Given the description of an element on the screen output the (x, y) to click on. 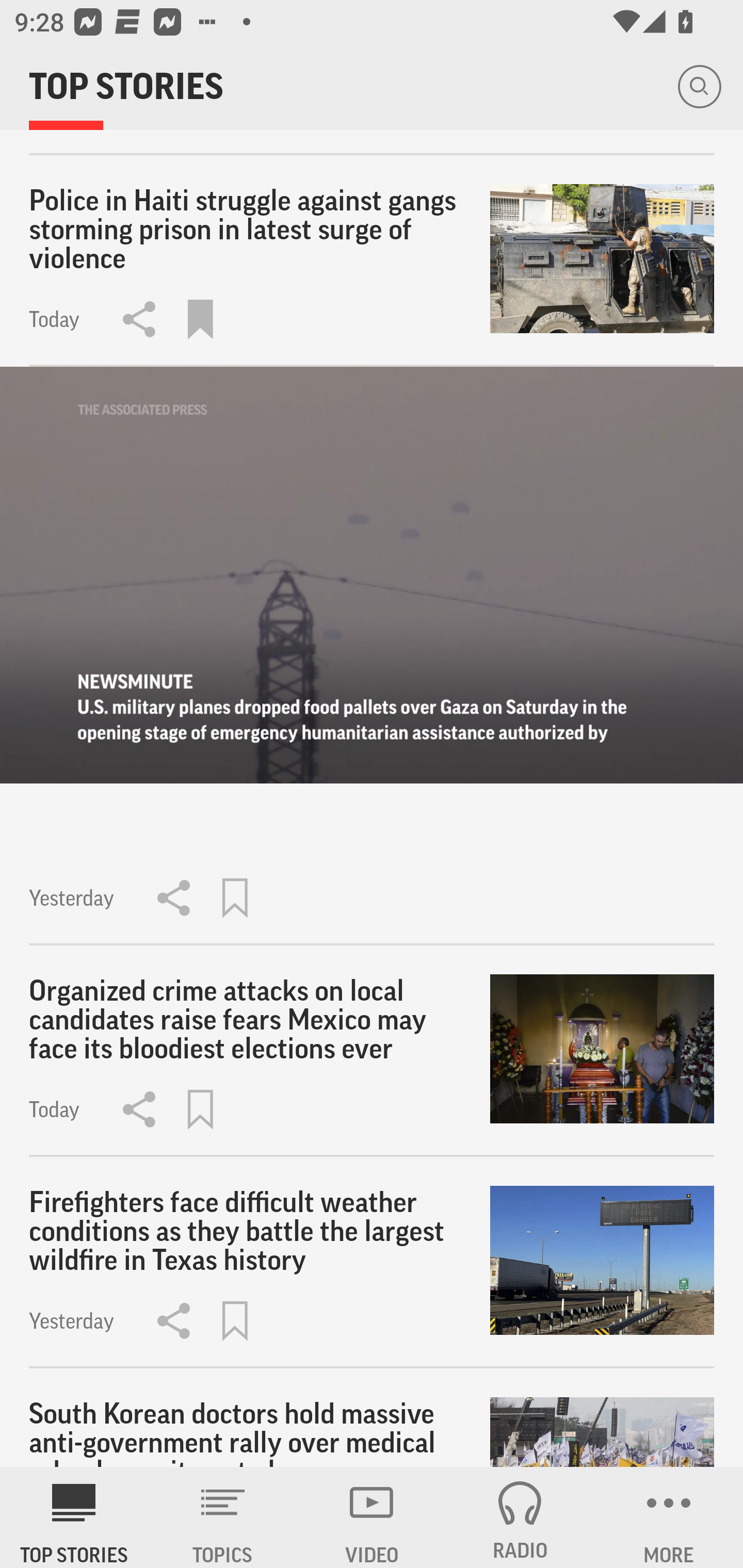
toggle controls Yesterday (371, 655)
toggle controls (371, 575)
AP News TOP STORIES (74, 1517)
TOPICS (222, 1517)
VIDEO (371, 1517)
RADIO (519, 1517)
MORE (668, 1517)
